Given the description of an element on the screen output the (x, y) to click on. 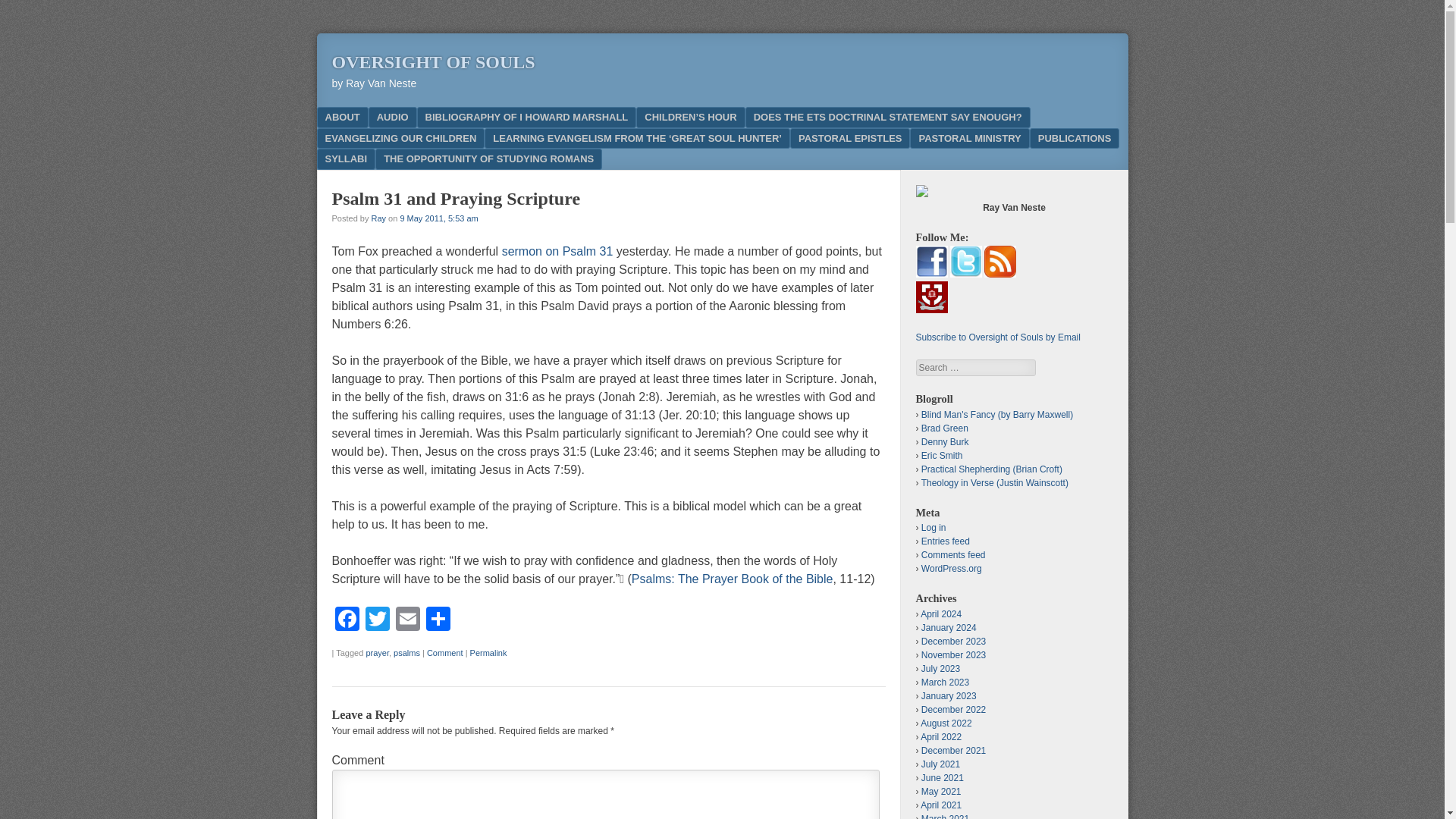
Ray (378, 217)
Share (437, 620)
Skip to content (370, 117)
View all posts by Ray (378, 217)
OVERSIGHT OF SOULS (433, 62)
BIBLIOGRAPHY OF I HOWARD MARSHALL (526, 117)
Permanent Link to Psalm 31 and Praying Scripture (488, 652)
Psalms: The Prayer Book of the Bible (731, 578)
prayer (376, 652)
SKIP TO CONTENT (370, 117)
Brad Green (944, 428)
ABOUT (342, 117)
Oversight of Souls (433, 62)
psalms (406, 652)
Facebook (346, 620)
